Given the description of an element on the screen output the (x, y) to click on. 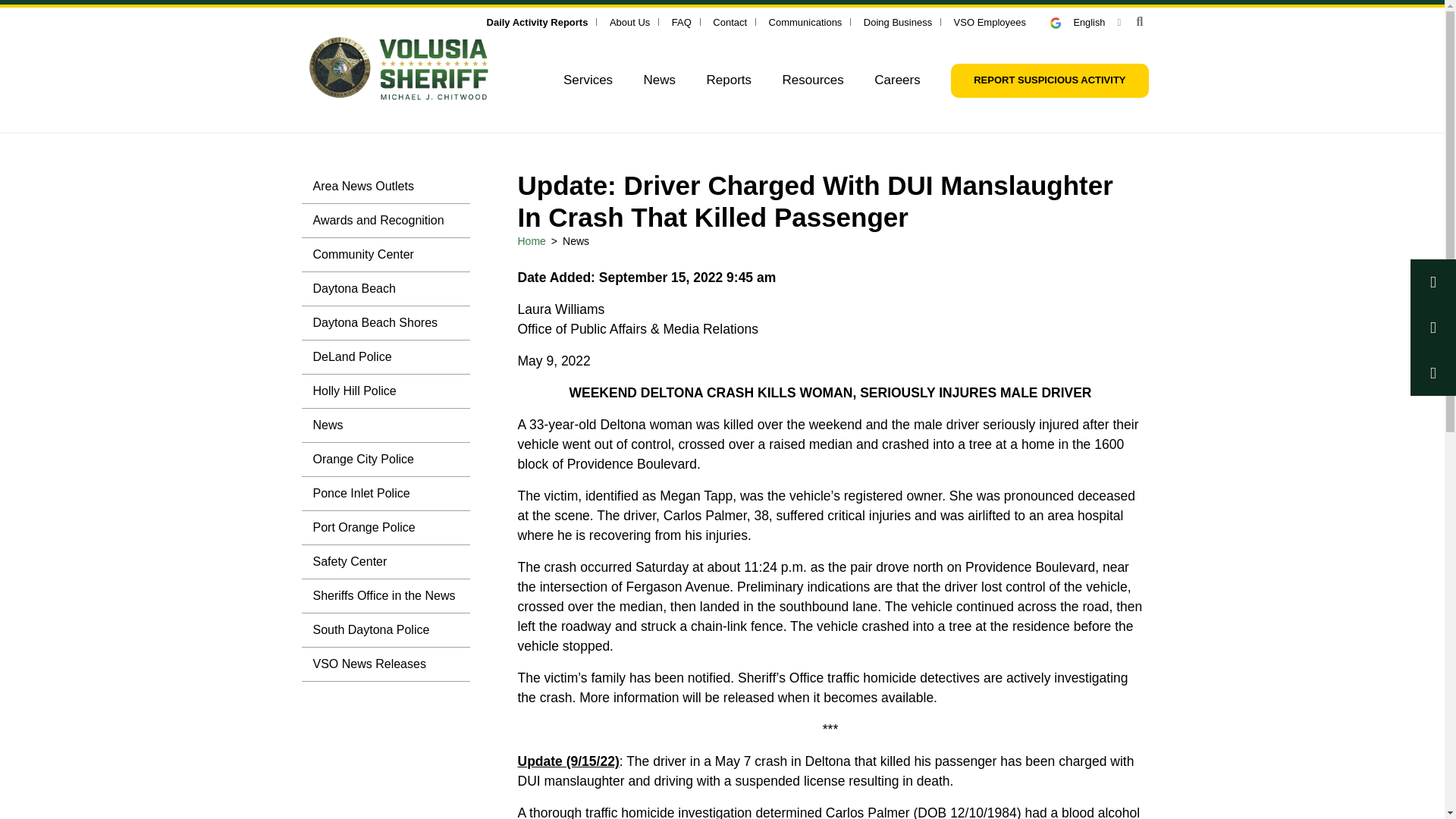
Contact (729, 21)
Translate (1061, 22)
FAQ (681, 21)
VSO Employees (989, 21)
Doing Business (897, 21)
Translate (1085, 21)
Daily Activity Reports (537, 21)
English (1085, 21)
Communications (805, 21)
About Us (629, 21)
